Given the description of an element on the screen output the (x, y) to click on. 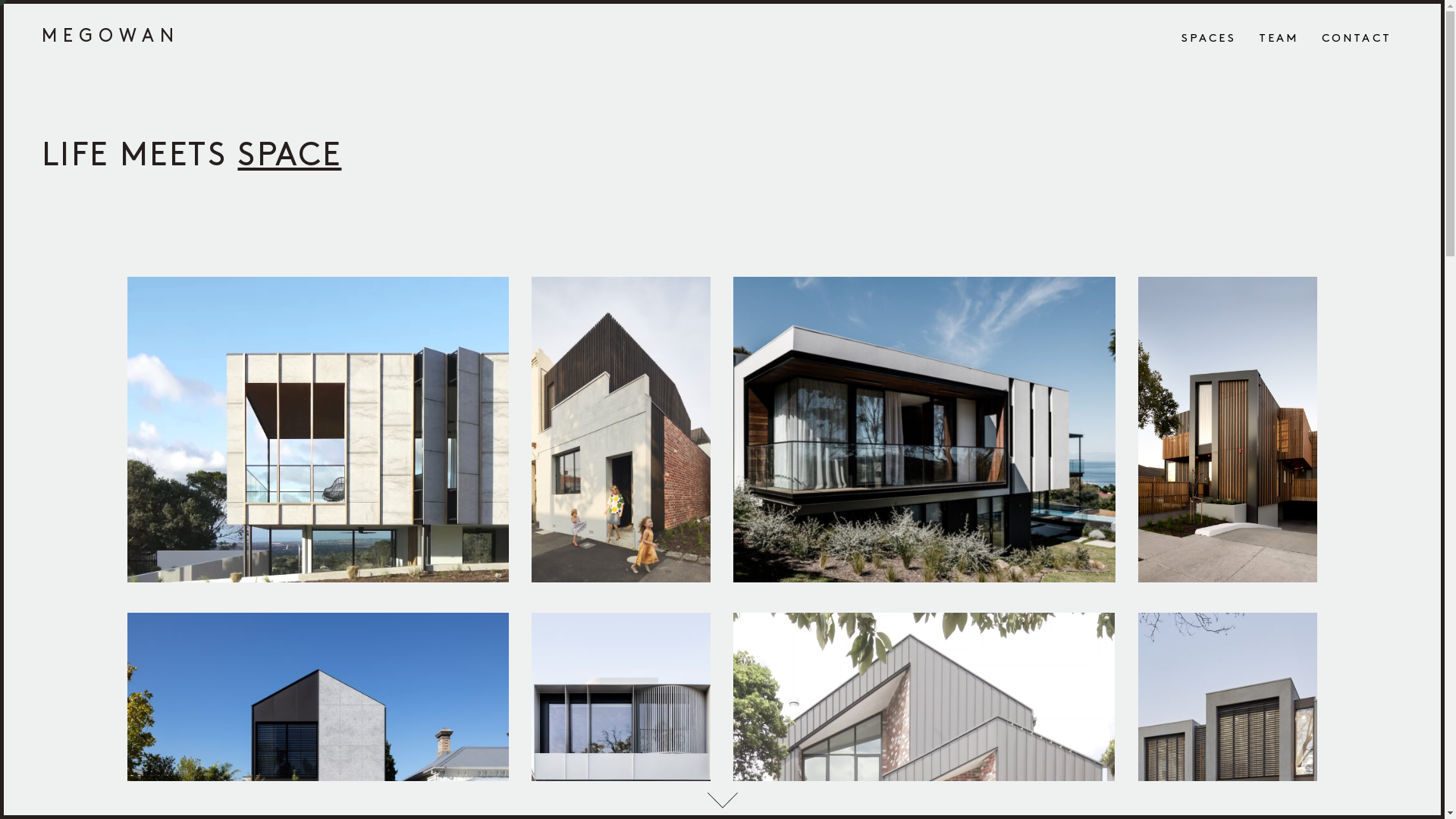
SPACES Element type: text (1208, 38)
COAST Element type: text (320, 153)
MEGOWAN Element type: text (110, 36)
CONTACT Element type: text (1356, 38)
TEAM Element type: text (1278, 38)
